Given the description of an element on the screen output the (x, y) to click on. 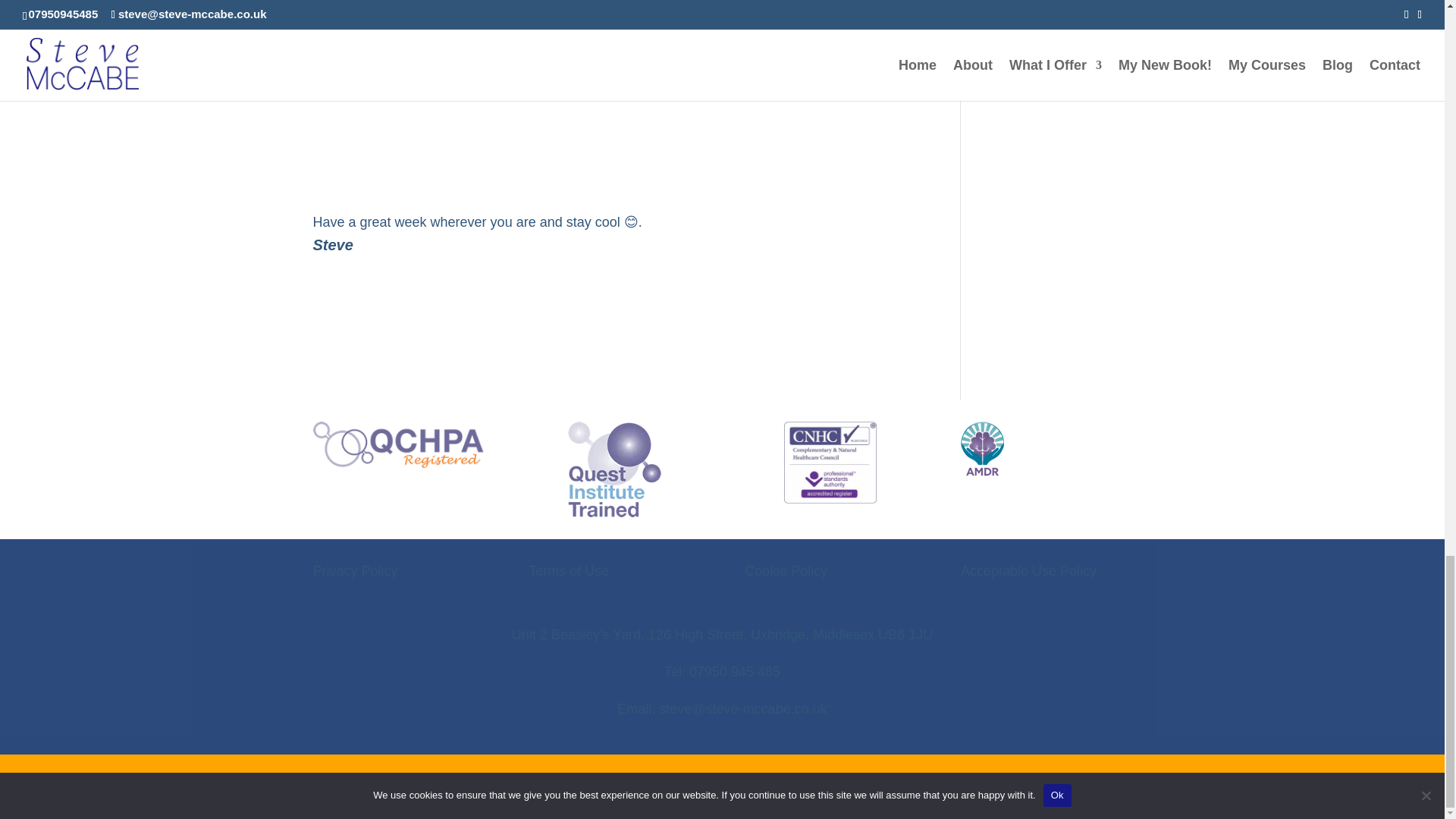
Terms of Use (568, 570)
Privacy Policy (355, 570)
logo-quest (614, 468)
Acceptable Use Policy (1028, 570)
logo-qchpa (398, 444)
Cookie Policy (785, 570)
cnhc (830, 462)
